Given the description of an element on the screen output the (x, y) to click on. 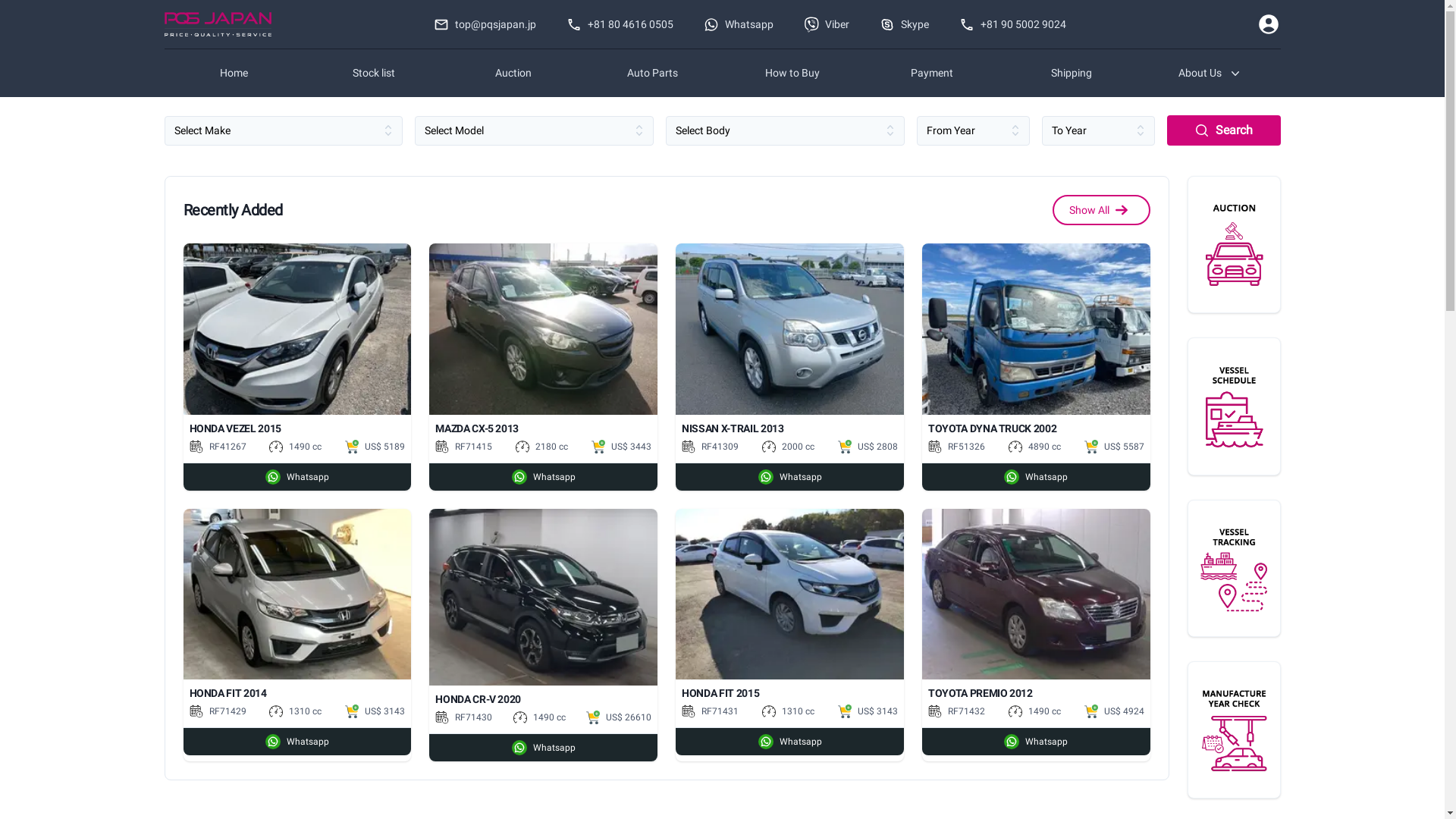
To Year Element type: text (1097, 129)
top@pqsjapan.jp Element type: text (484, 24)
+81 90 5002 9024 Element type: text (1012, 24)
MAZDA CX-5 2013 Element type: text (543, 428)
From Year Element type: text (972, 129)
HONDA CR-V 2020 Element type: text (543, 699)
Whatsapp Element type: text (1036, 476)
+81 80 4616 0505 Element type: text (619, 24)
Select Body Element type: text (784, 129)
Viber Element type: text (826, 24)
Auto Parts Element type: text (651, 73)
Whatsapp Element type: text (789, 741)
Payment Element type: text (931, 73)
NISSAN X-TRAIL 2013 Element type: text (789, 428)
Home Element type: text (233, 73)
Open user menu Element type: text (1267, 24)
HONDA VEZEL 2015 Element type: text (297, 428)
Select Model Element type: text (533, 129)
TOYOTA DYNA TRUCK 2002 Element type: text (1036, 428)
About Us Element type: text (1210, 73)
HONDA FIT 2015 Element type: text (789, 693)
Select Make Element type: text (282, 129)
Show All Element type: text (1101, 209)
Whatsapp Element type: text (1036, 741)
Search Element type: text (1223, 130)
Whatsapp Element type: text (297, 741)
Skype Element type: text (904, 24)
Whatsapp Element type: text (543, 476)
Whatsapp Element type: text (789, 476)
Whatsapp Element type: text (543, 747)
Whatsapp Element type: text (738, 24)
Auction Element type: text (512, 73)
How to Buy Element type: text (791, 73)
TOYOTA PREMIO 2012 Element type: text (1036, 693)
Shipping Element type: text (1070, 73)
HONDA FIT 2014 Element type: text (297, 693)
Whatsapp Element type: text (297, 476)
Stock list Element type: text (372, 73)
